Given the description of an element on the screen output the (x, y) to click on. 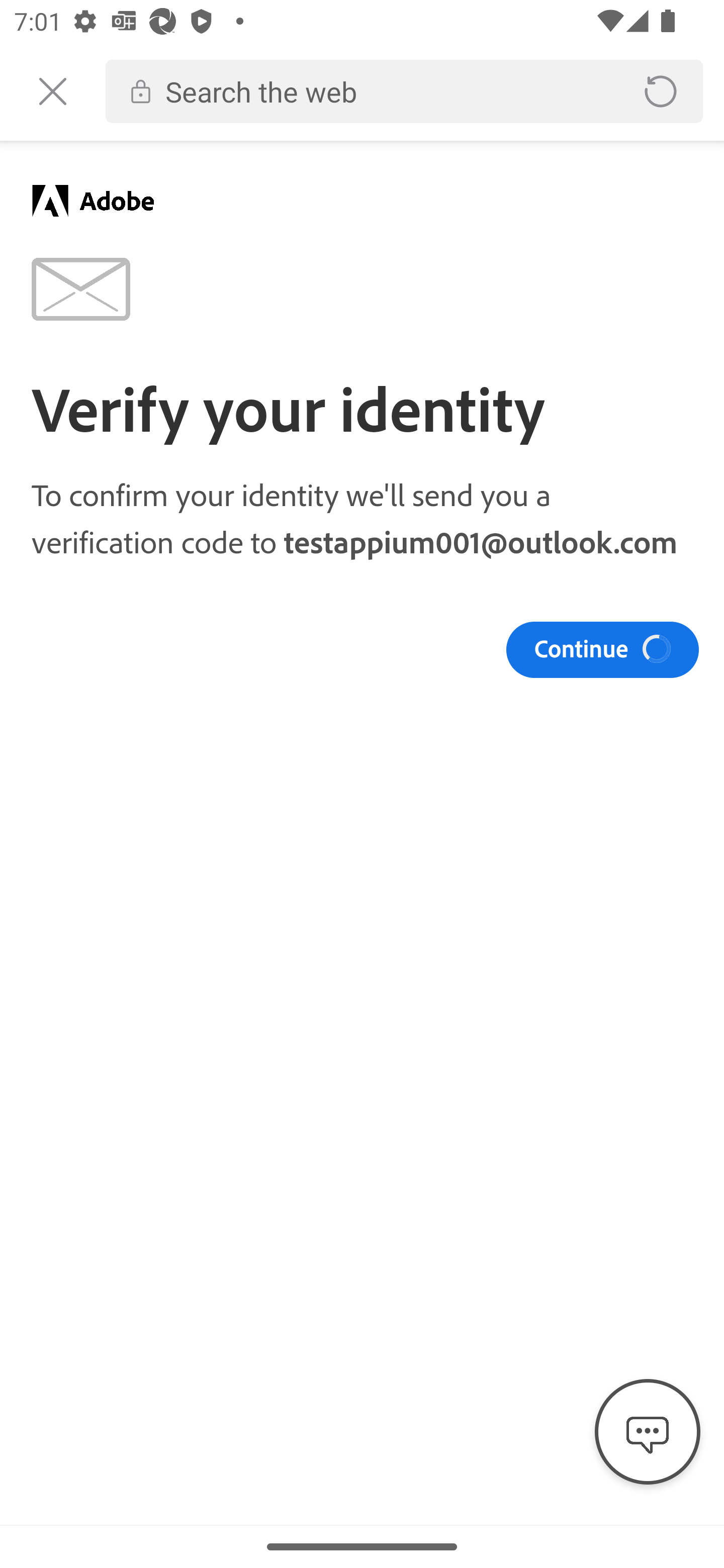
Close (52, 91)
Search the web (386, 91)
Refresh (660, 91)
Continue (602, 649)
Contact us (648, 1432)
